Given the description of an element on the screen output the (x, y) to click on. 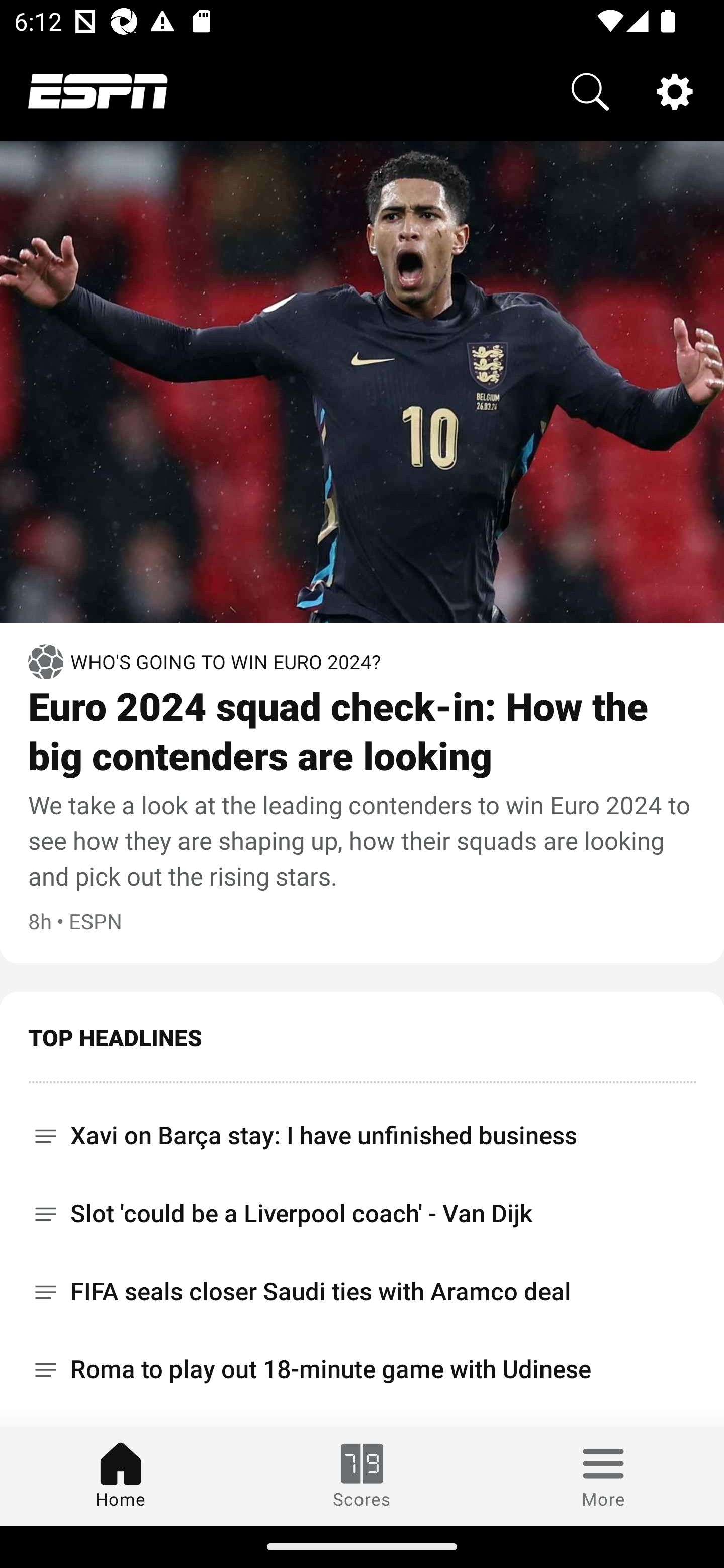
Search (590, 90)
Settings (674, 90)
 Xavi on Barça stay: I have unfinished business (362, 1128)
 Slot 'could be a Liverpool coach' - Van Dijk (362, 1213)
 FIFA seals closer Saudi ties with Aramco deal (362, 1291)
 Roma to play out 18-minute game with Udinese (362, 1369)
Scores (361, 1475)
More (603, 1475)
